Given the description of an element on the screen output the (x, y) to click on. 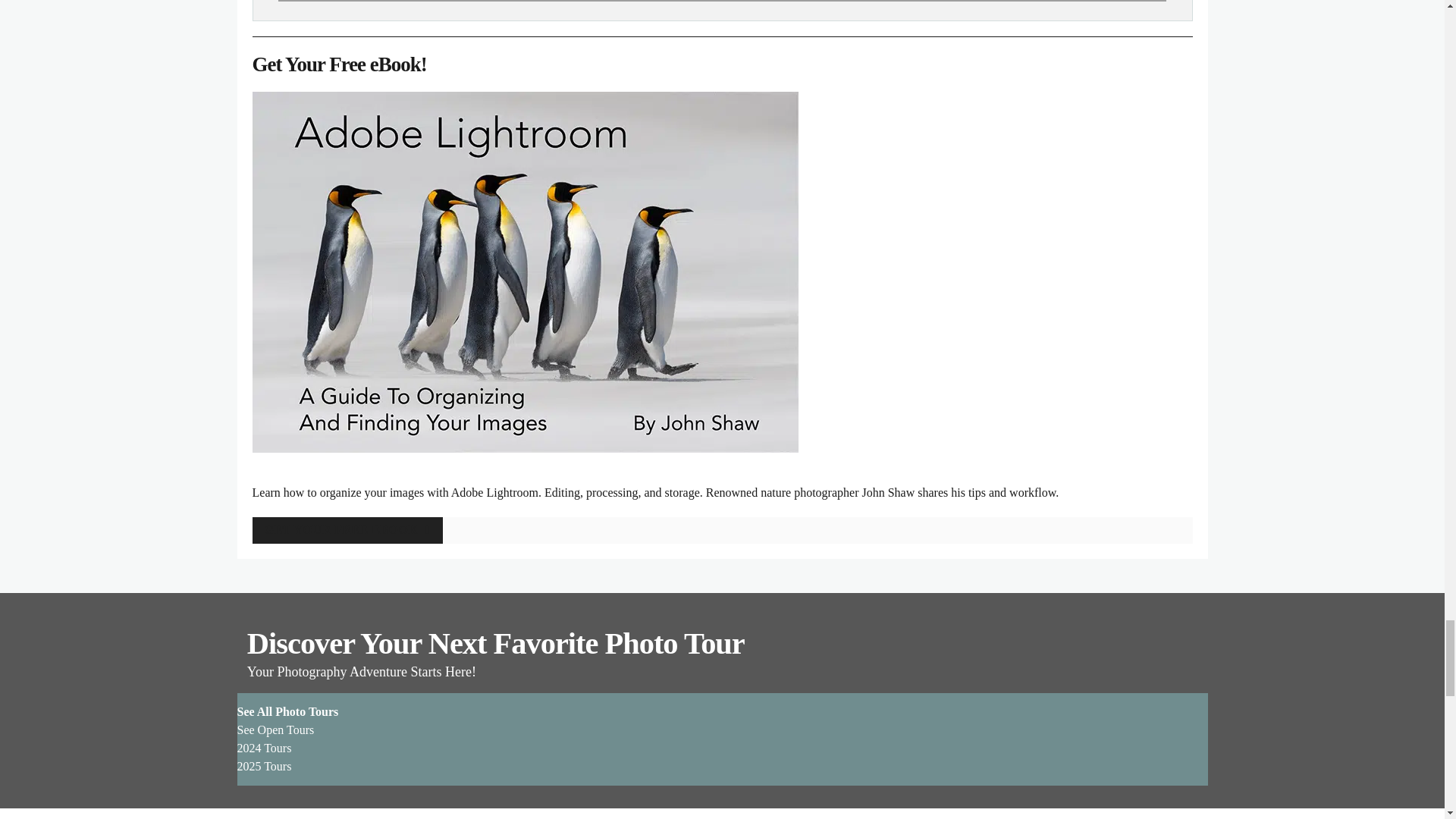
GET YOUR FREE EBOOK (346, 529)
GET YOUR FREE EBOOK (721, 529)
